Given the description of an element on the screen output the (x, y) to click on. 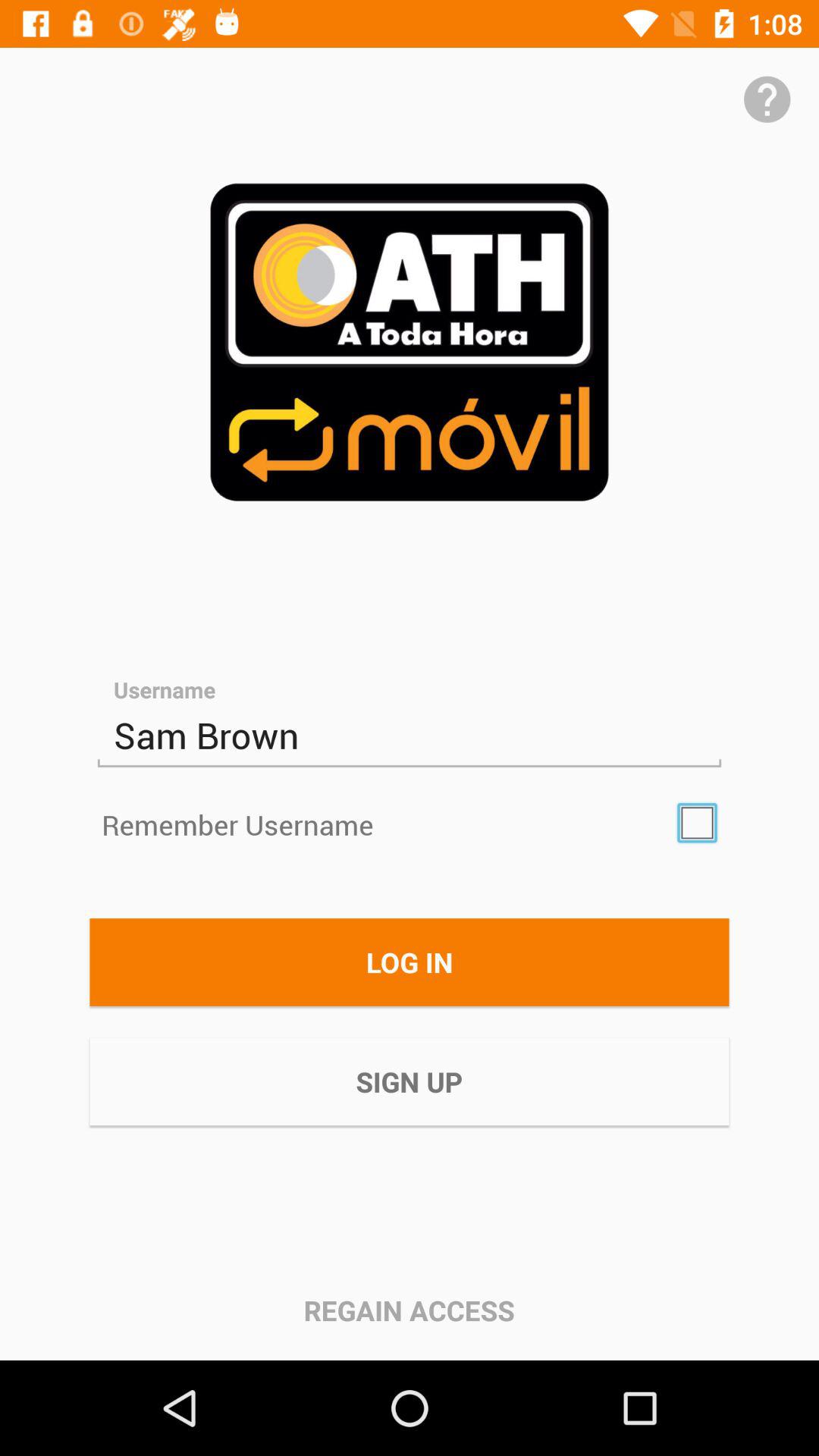
help (767, 99)
